Given the description of an element on the screen output the (x, y) to click on. 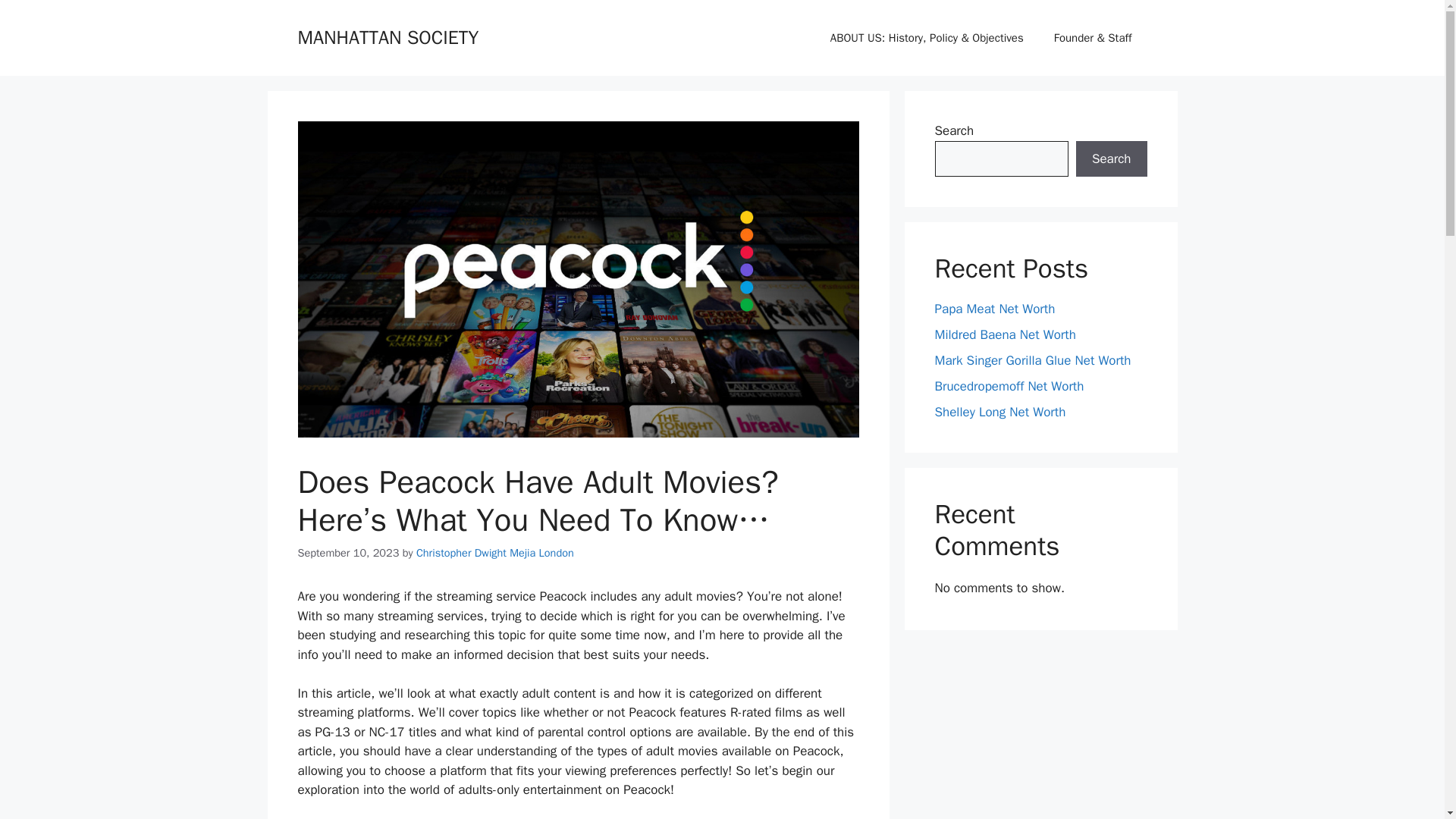
Christopher Dwight Mejia London (494, 552)
Brucedropemoff Net Worth (1008, 385)
MANHATTAN SOCIETY (388, 37)
Mark Singer Gorilla Glue Net Worth (1032, 360)
Mildred Baena Net Worth (1004, 334)
Papa Meat Net Worth (994, 308)
Search (1111, 158)
Shelley Long Net Worth (999, 412)
